Given the description of an element on the screen output the (x, y) to click on. 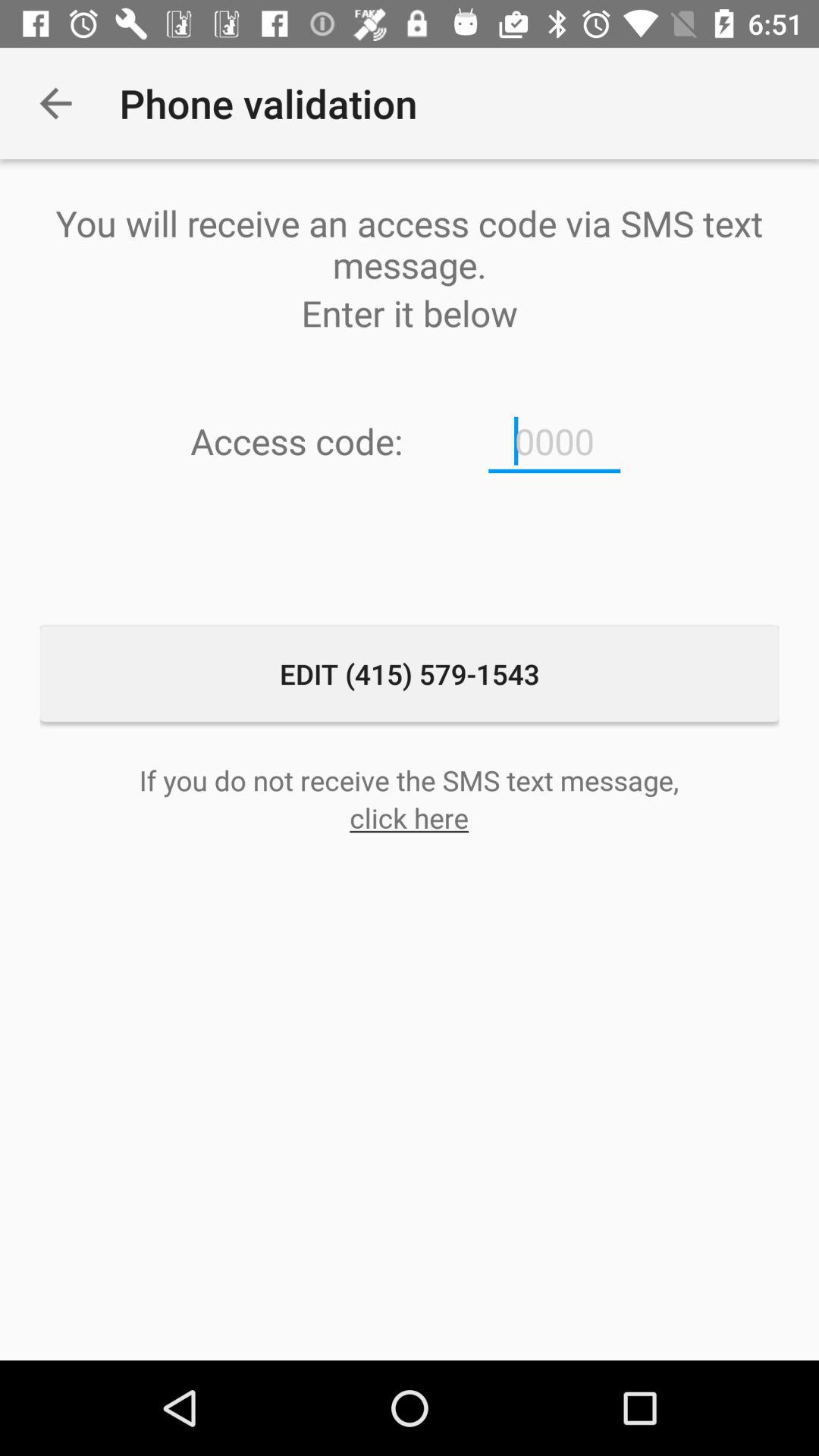
scroll until the click here icon (408, 817)
